Given the description of an element on the screen output the (x, y) to click on. 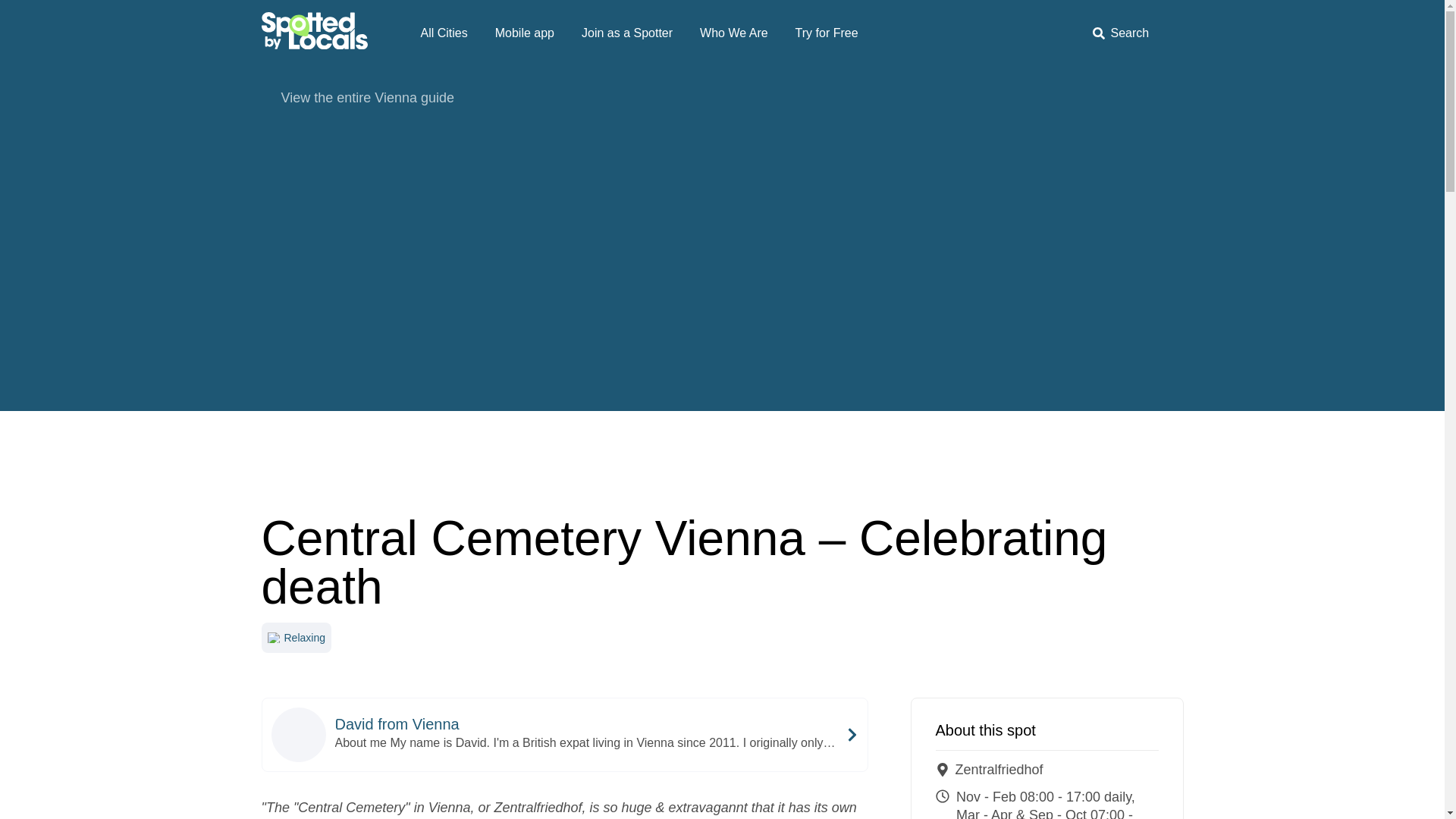
View the entire Vienna guide (721, 97)
All Cities (443, 33)
Join as a Spotter (626, 33)
Try for Free (826, 33)
Mobile app (524, 33)
Who We Are (734, 33)
